Given the description of an element on the screen output the (x, y) to click on. 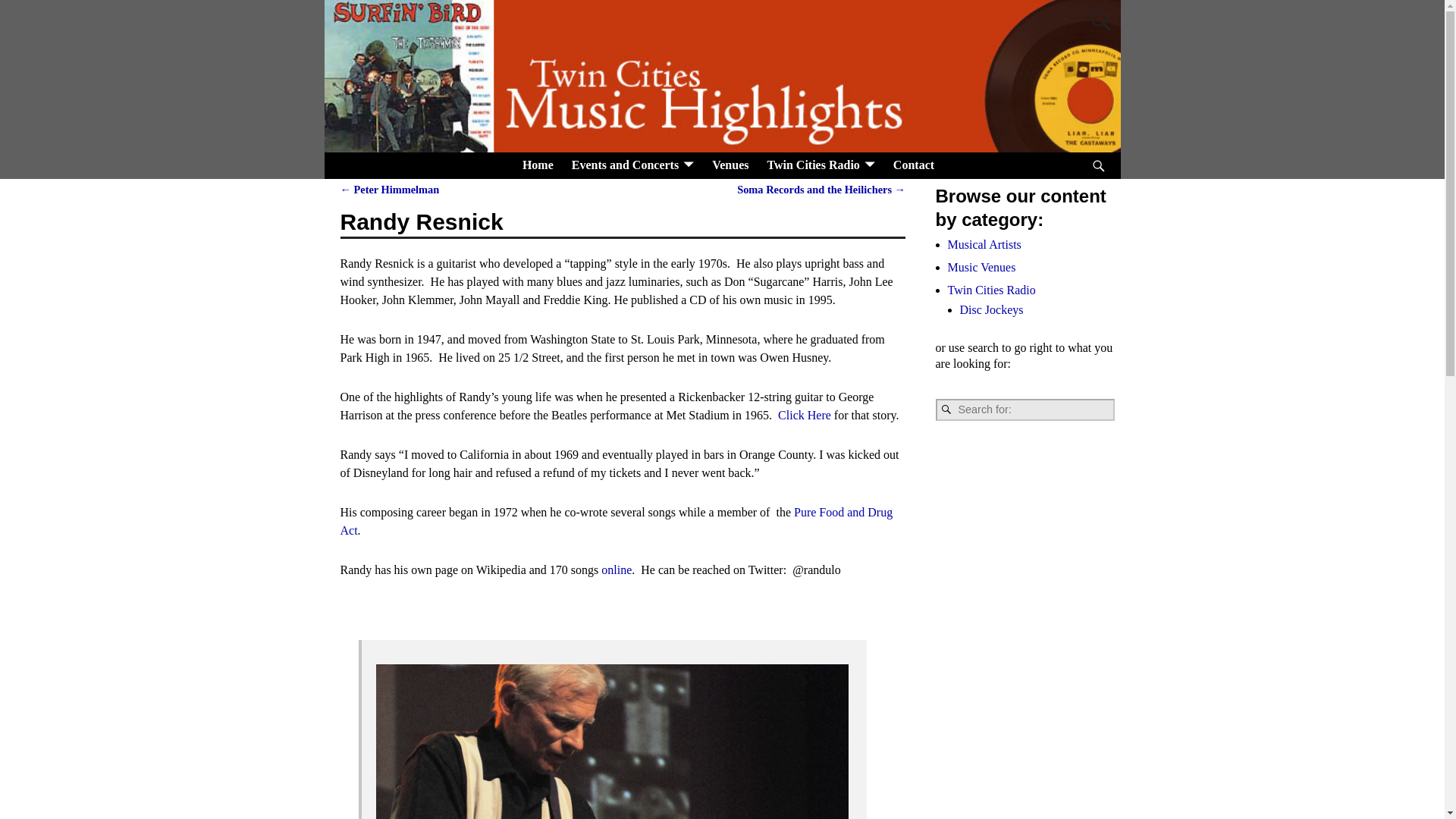
Musical Artists (984, 244)
Disc Jockeys (991, 309)
Twin Cities Radio (991, 289)
Music Venues (981, 267)
online (616, 569)
Pure Food and Drug Act (615, 521)
Events and Concerts (632, 165)
Venues (730, 165)
Twin Cities Radio (820, 165)
Home (537, 165)
Click Here (804, 414)
Contact (913, 165)
